Given the description of an element on the screen output the (x, y) to click on. 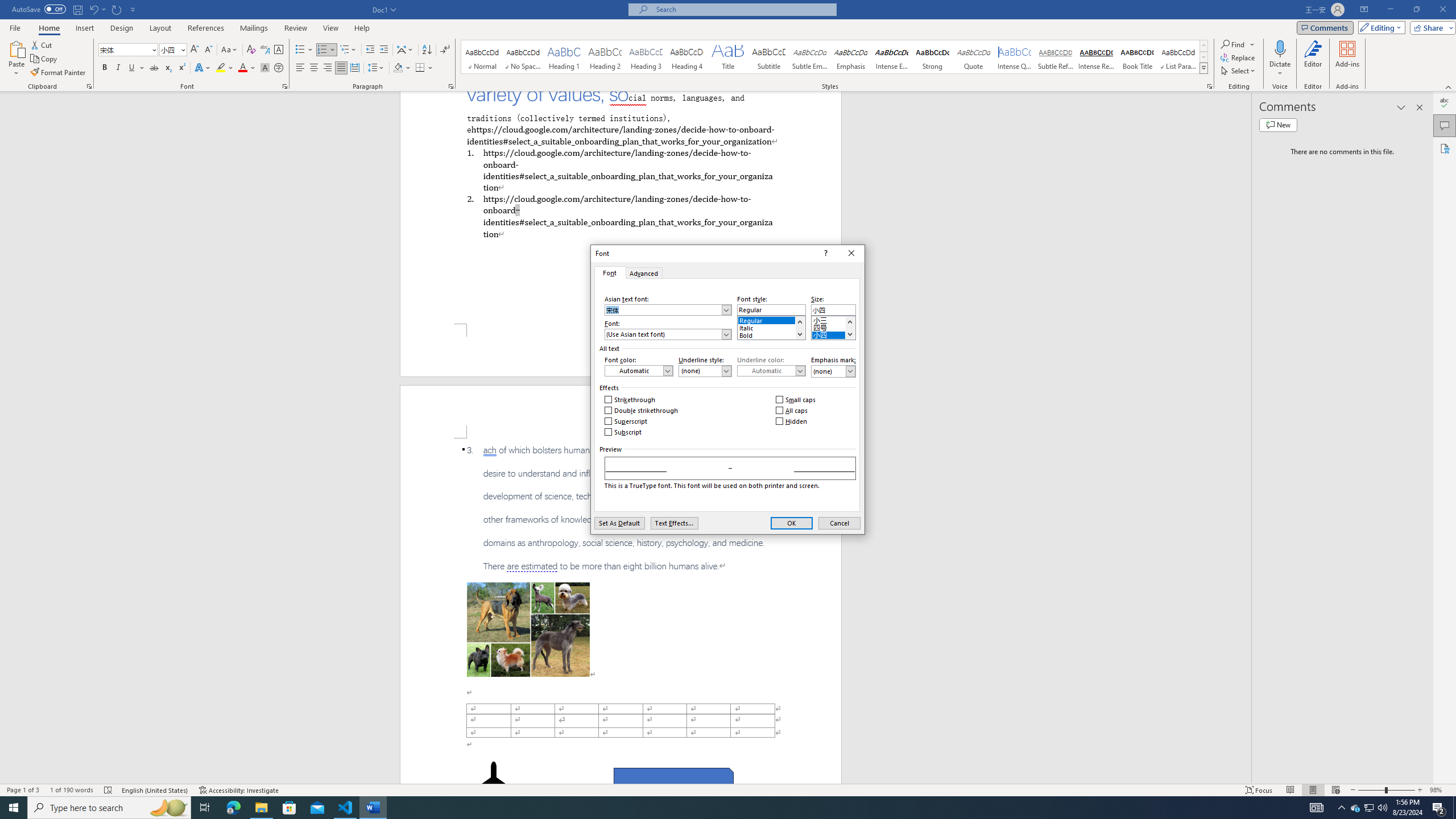
Subscript (167, 67)
